Given the description of an element on the screen output the (x, y) to click on. 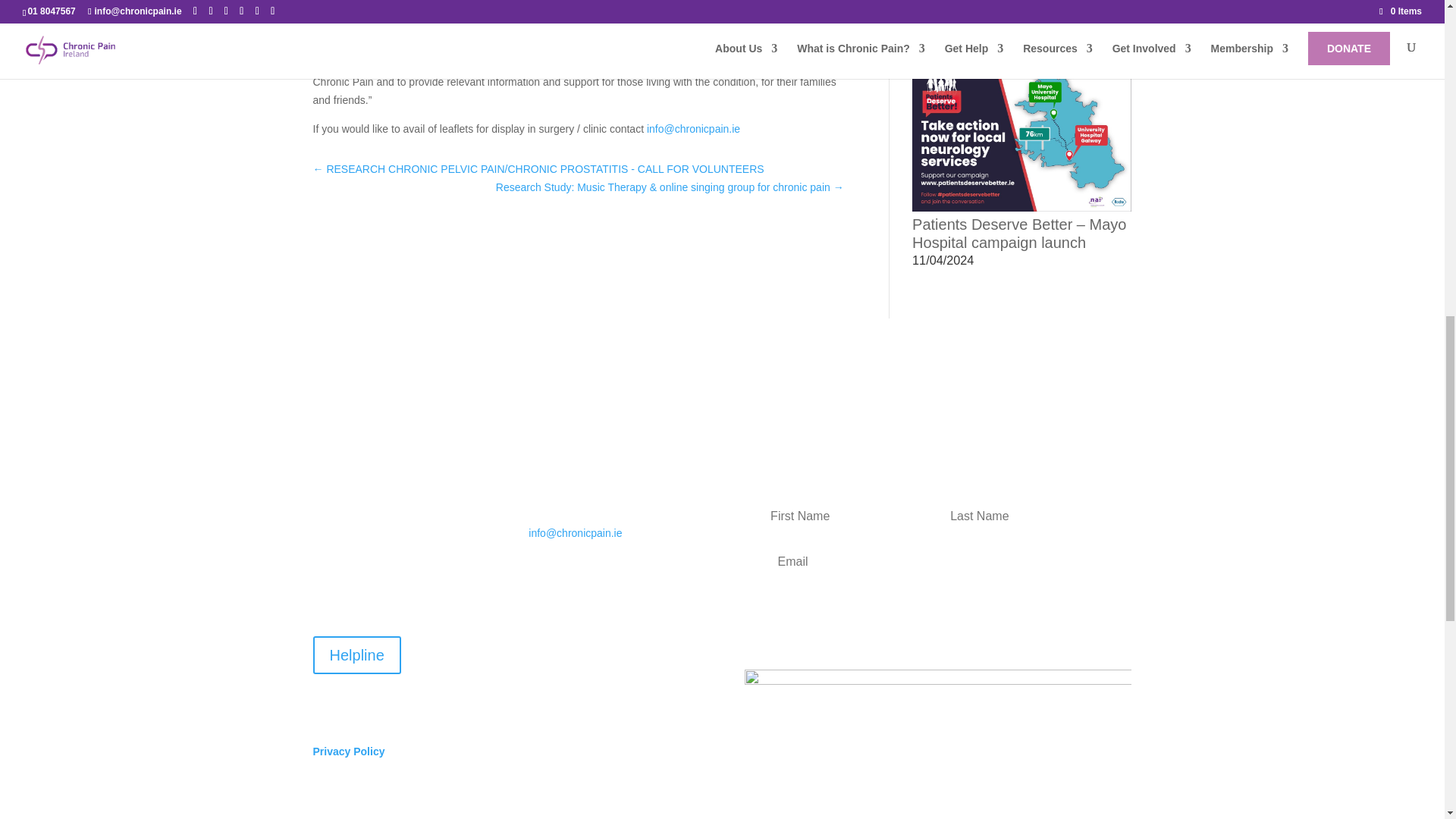
Follow on Facebook (540, 648)
Follow on Youtube (661, 648)
Follow on Vimeo (540, 678)
Follow on LinkedIn (631, 648)
Follow on Instagram (600, 648)
Follow on X (571, 648)
Logos (937, 691)
